Given the description of an element on the screen output the (x, y) to click on. 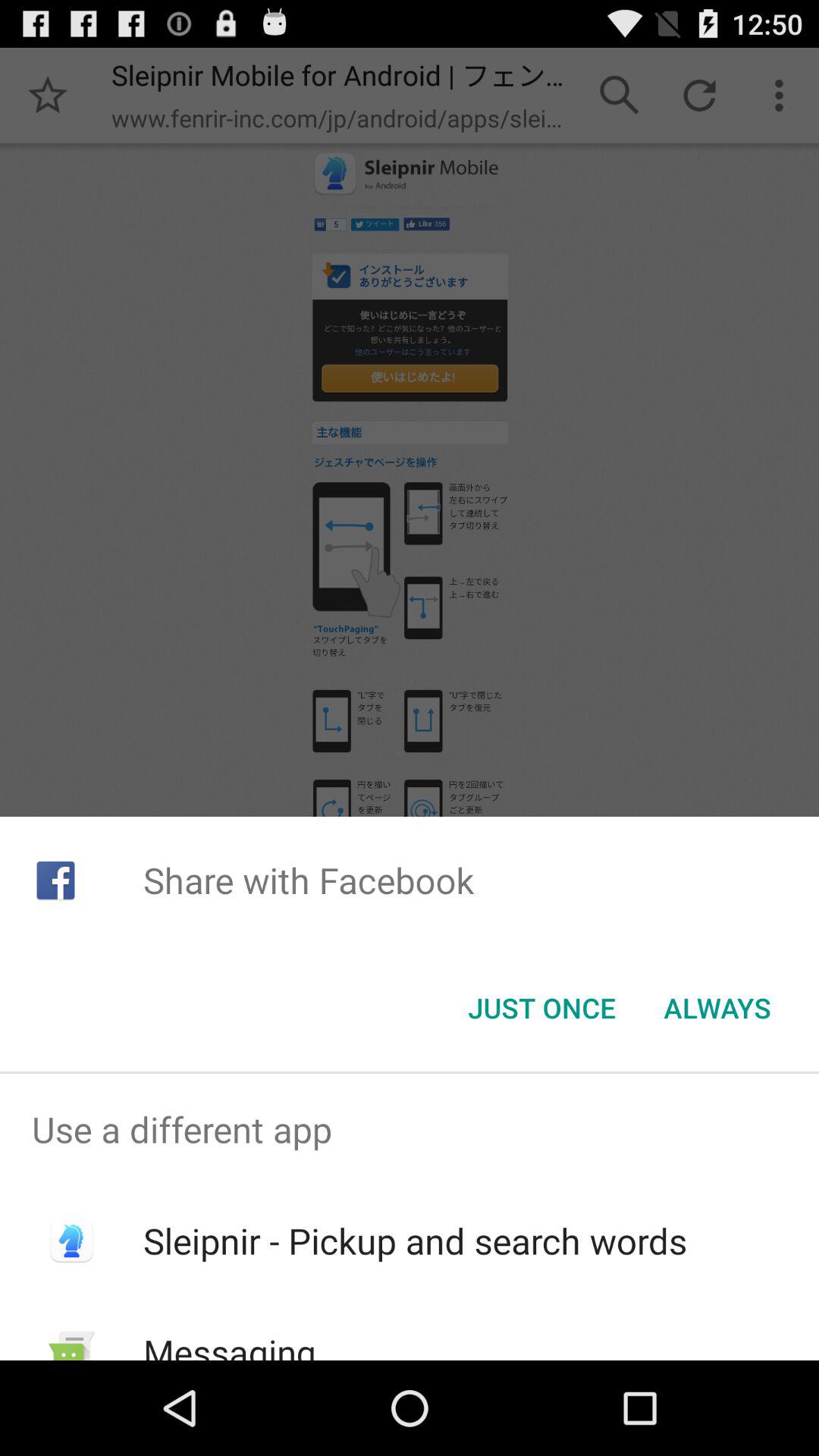
tap use a different app (409, 1129)
